Given the description of an element on the screen output the (x, y) to click on. 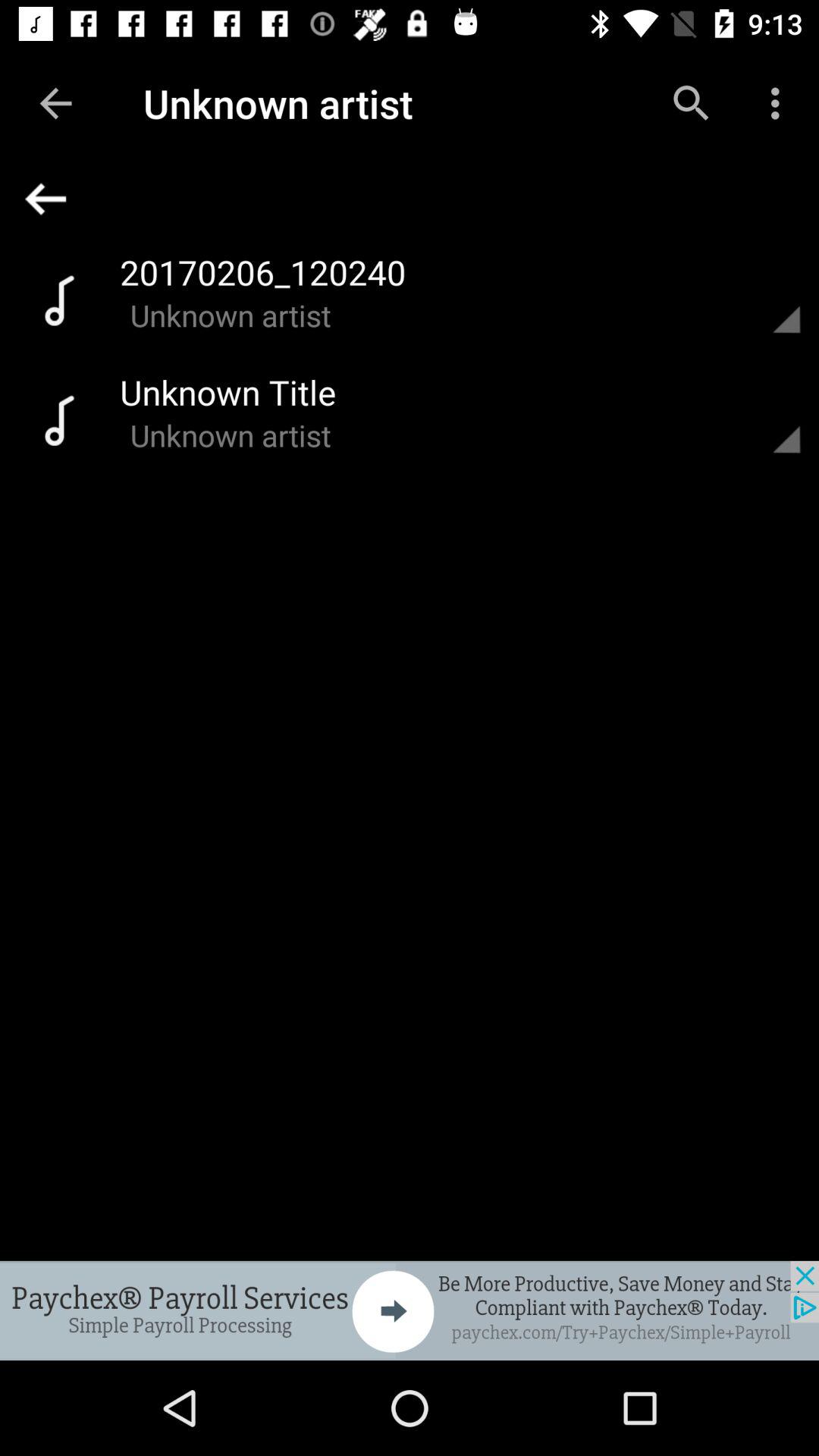
back (416, 198)
